Given the description of an element on the screen output the (x, y) to click on. 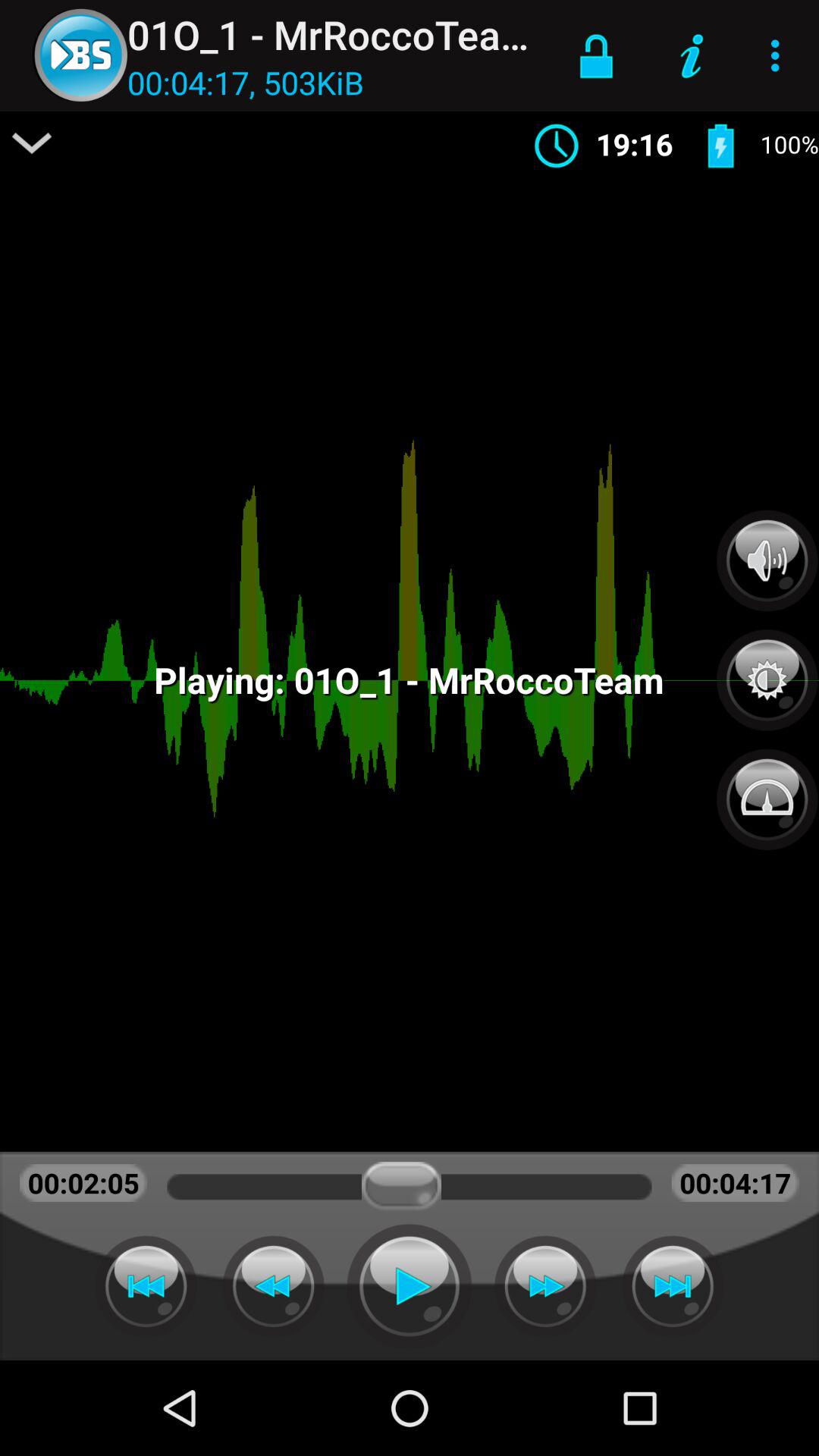
volume control (767, 560)
